Given the description of an element on the screen output the (x, y) to click on. 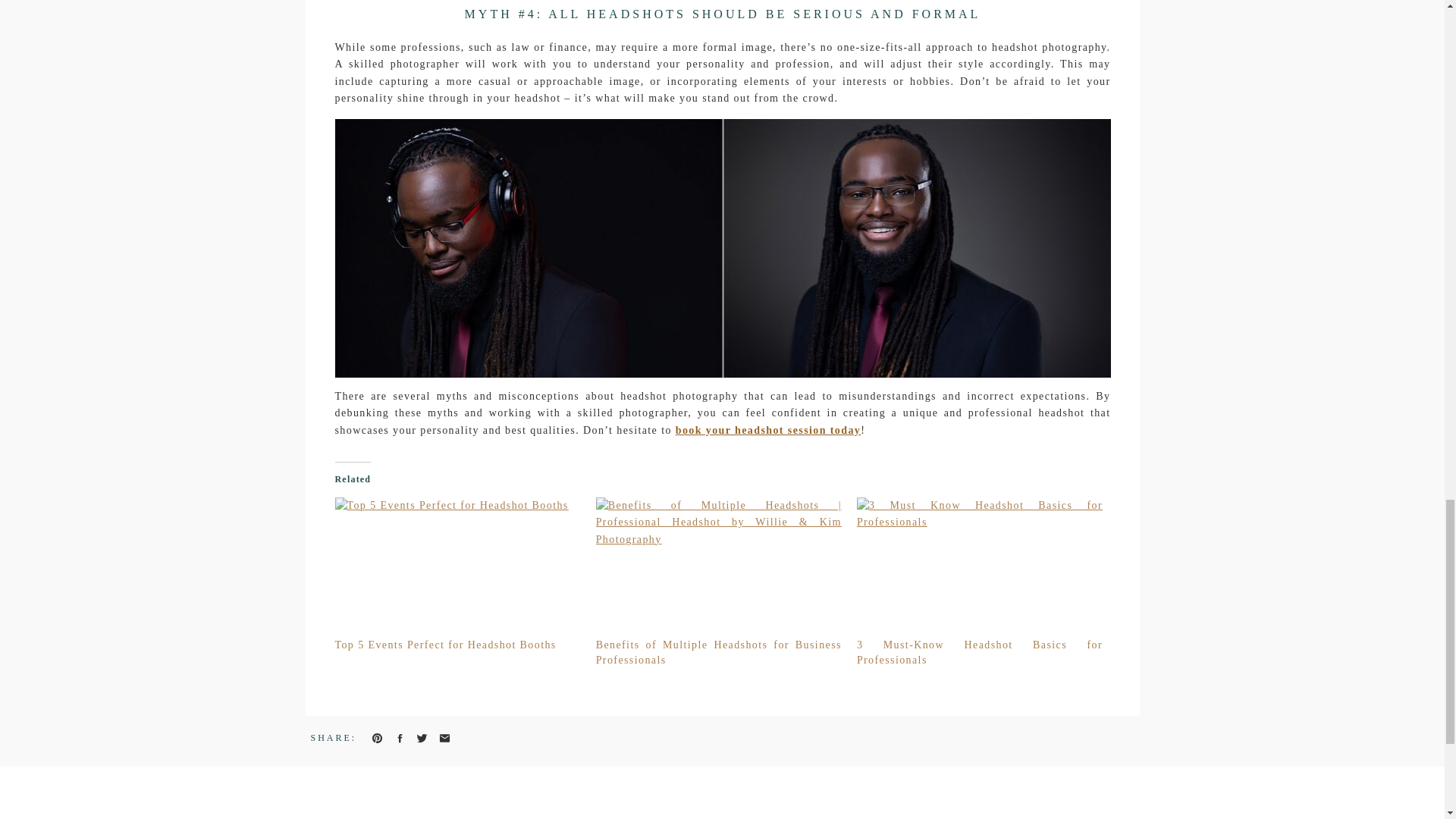
Benefits of Multiple Headshots for Business Professionals (718, 652)
Top 5 Events Perfect for Headshot Booths (457, 567)
Top 5 Events Perfect for Headshot Booths (445, 644)
3 Must-Know Headshot Basics for Professionals (979, 652)
3 Must-Know Headshot Basics for Professionals (979, 652)
3 Must-Know Headshot Basics for Professionals (979, 567)
Top 5 Events Perfect for Headshot Booths (445, 644)
Benefits of Multiple Headshots for Business Professionals (718, 567)
book your headshot session today (768, 430)
Benefits of Multiple Headshots for Business Professionals (718, 652)
